Given the description of an element on the screen output the (x, y) to click on. 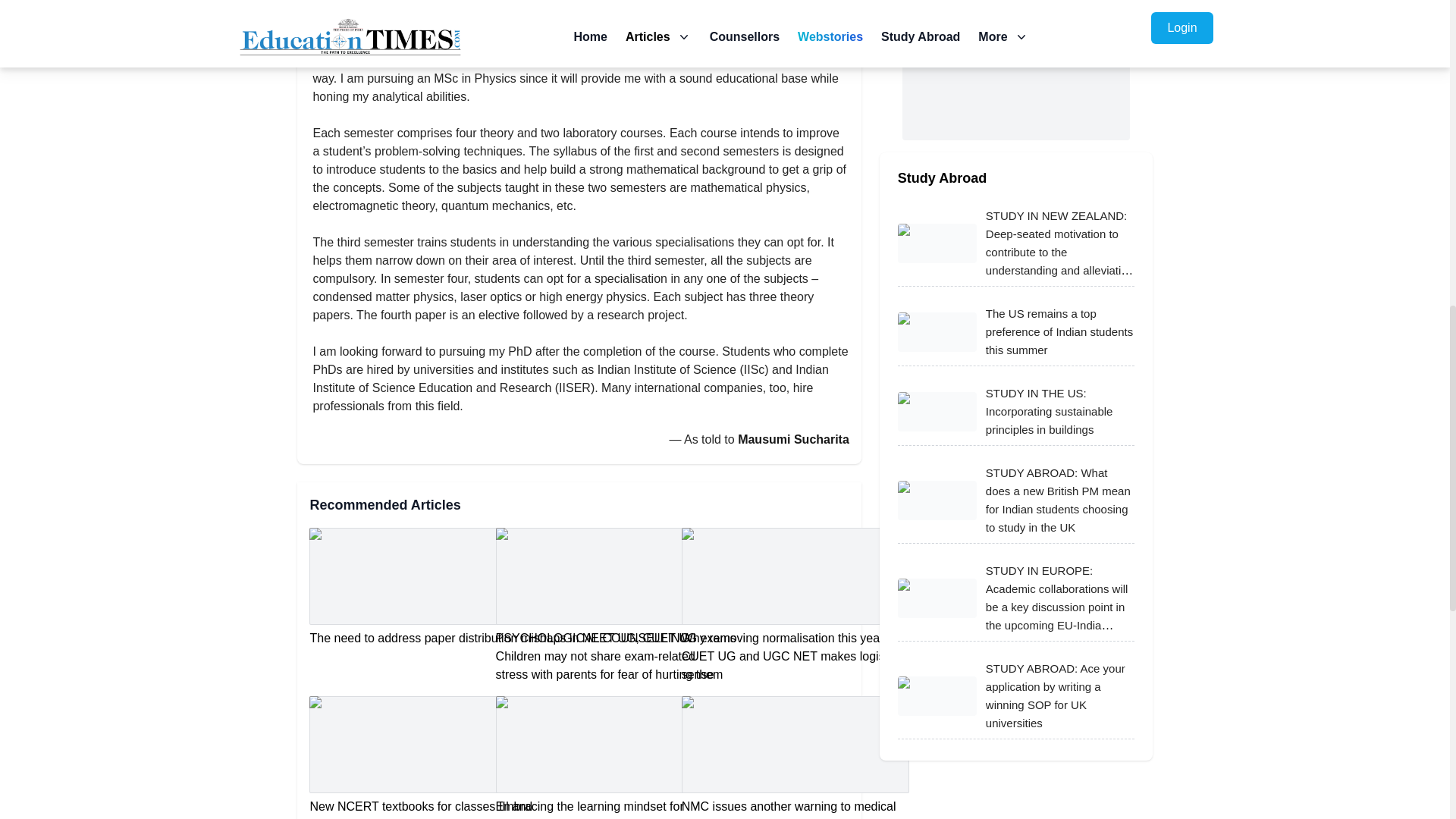
Embracing the learning mindset for growth (609, 757)
